Given the description of an element on the screen output the (x, y) to click on. 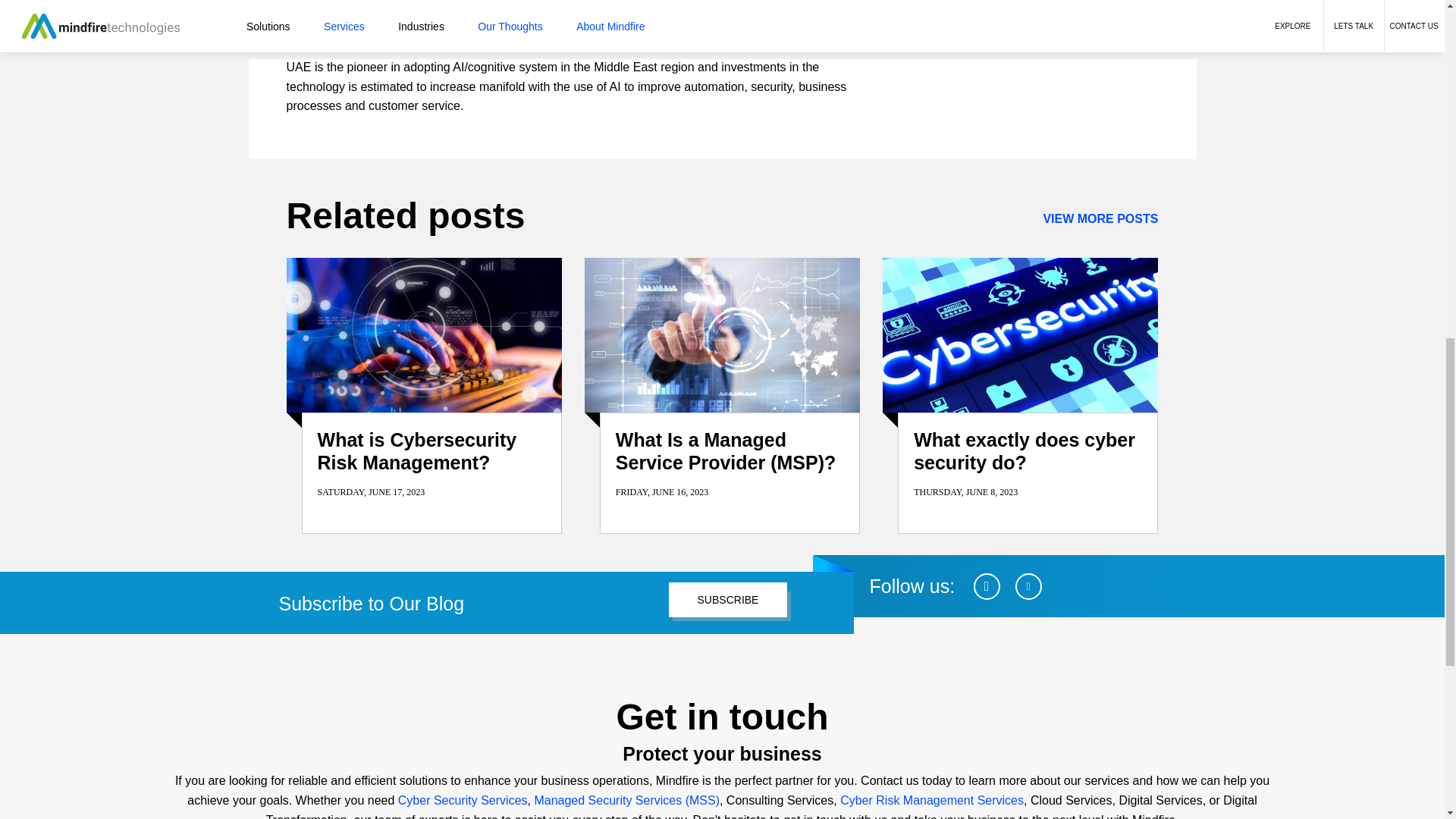
Cyber Risk Management Services (931, 799)
Cyber Security Services (462, 799)
